Given the description of an element on the screen output the (x, y) to click on. 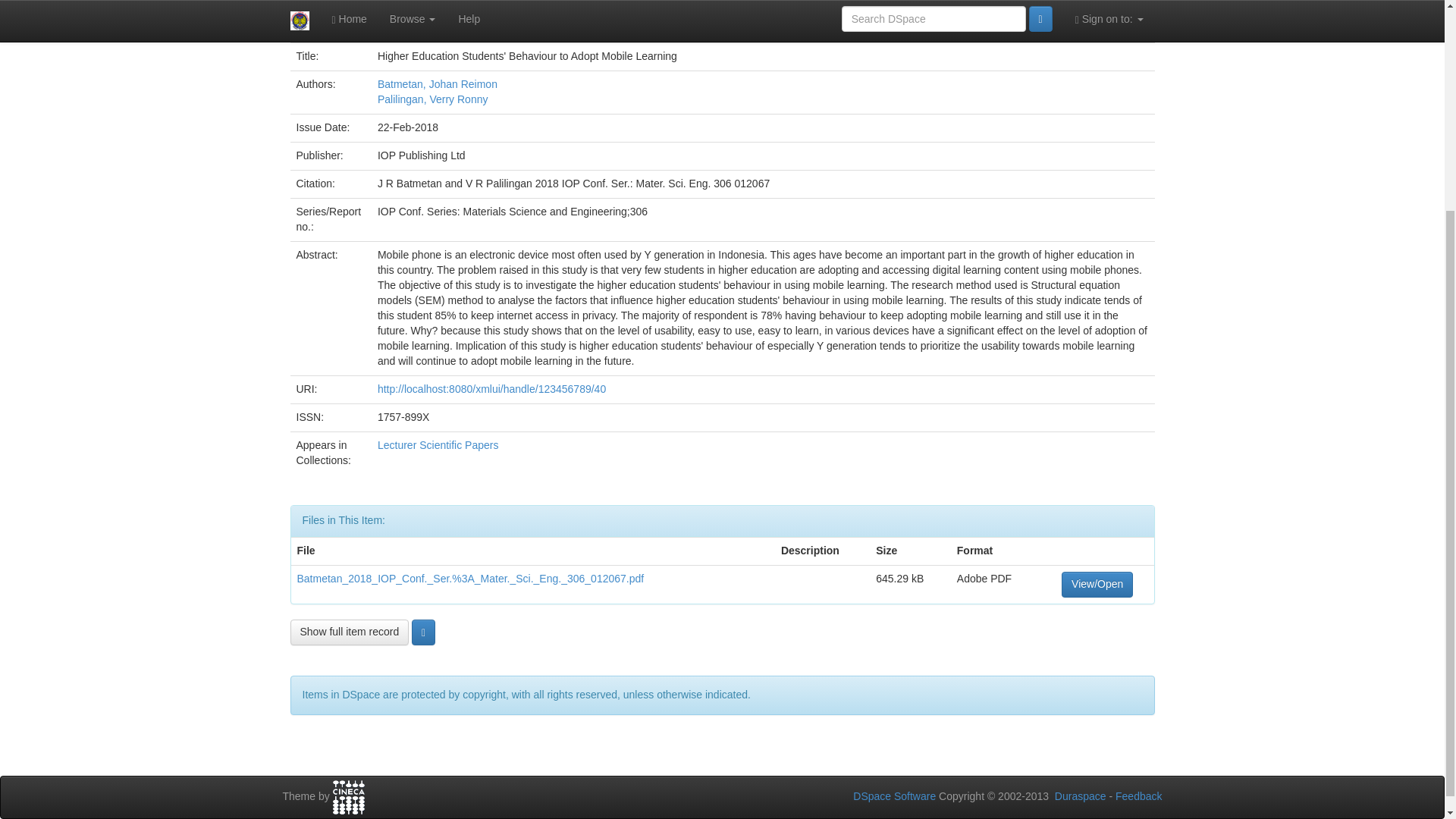
Batmetan, Johan Reimon (437, 83)
Show full item record (349, 632)
Lecturer Scientific Papers (438, 444)
Feedback (1138, 796)
DSpace Software (894, 796)
Duraspace (1080, 796)
Palilingan, Verry Ronny (432, 99)
